Given the description of an element on the screen output the (x, y) to click on. 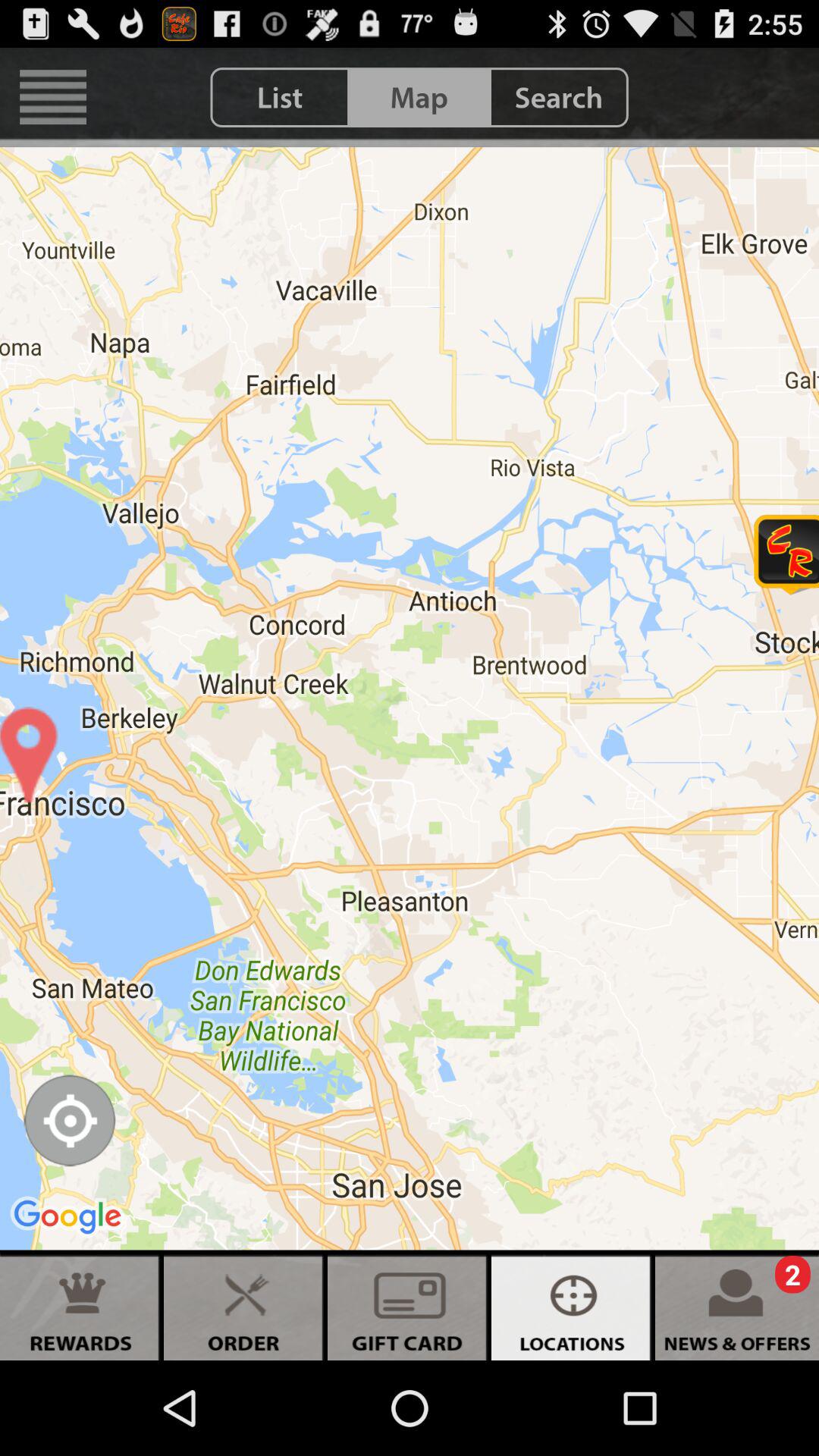
map selection tool (69, 1120)
